Given the description of an element on the screen output the (x, y) to click on. 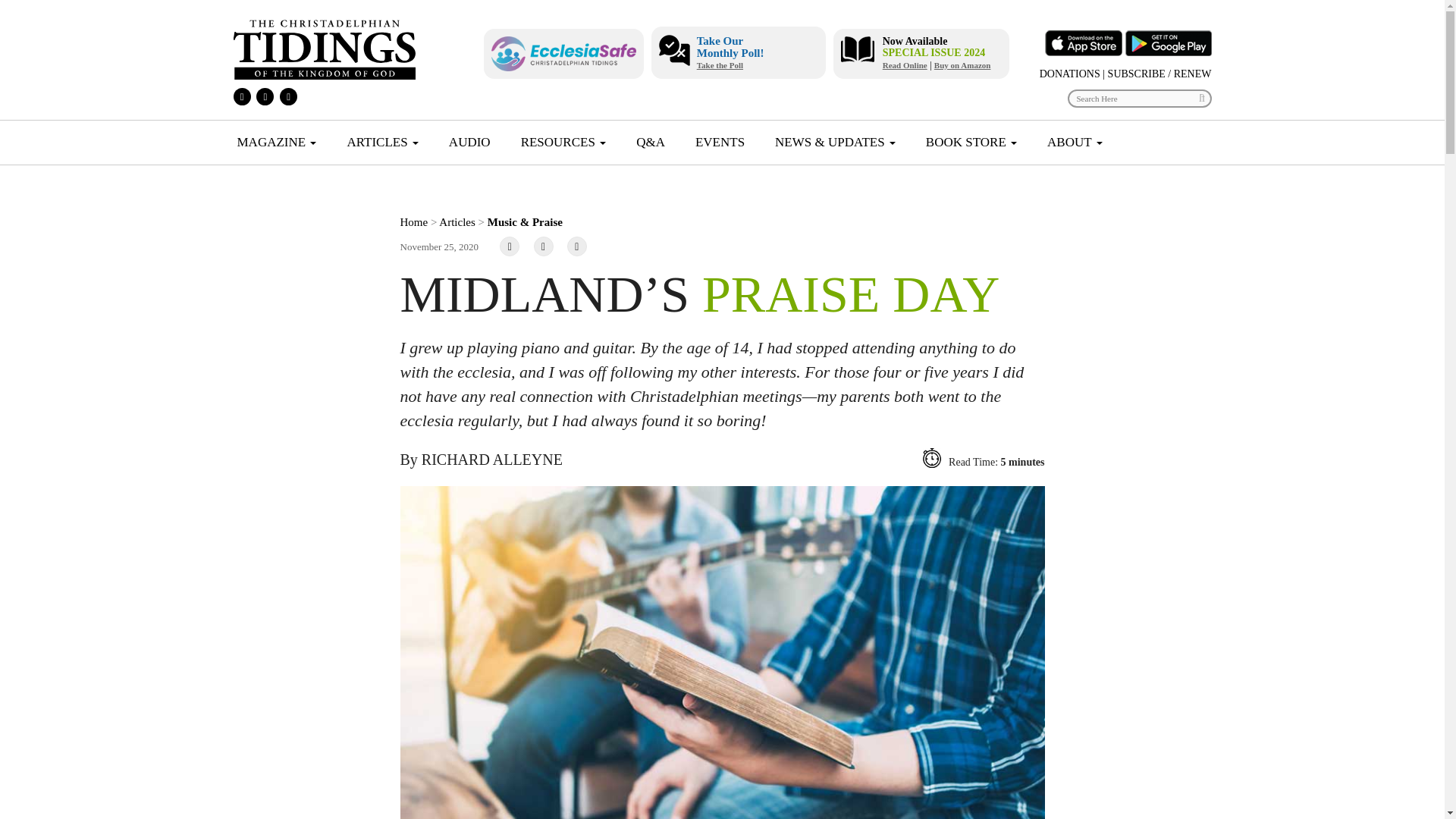
Read Online (904, 65)
Take the Poll (719, 64)
ARTICLES (381, 142)
MAGAZINE (276, 142)
DONATIONS (1069, 73)
Buy on Amazon (962, 65)
